Given the description of an element on the screen output the (x, y) to click on. 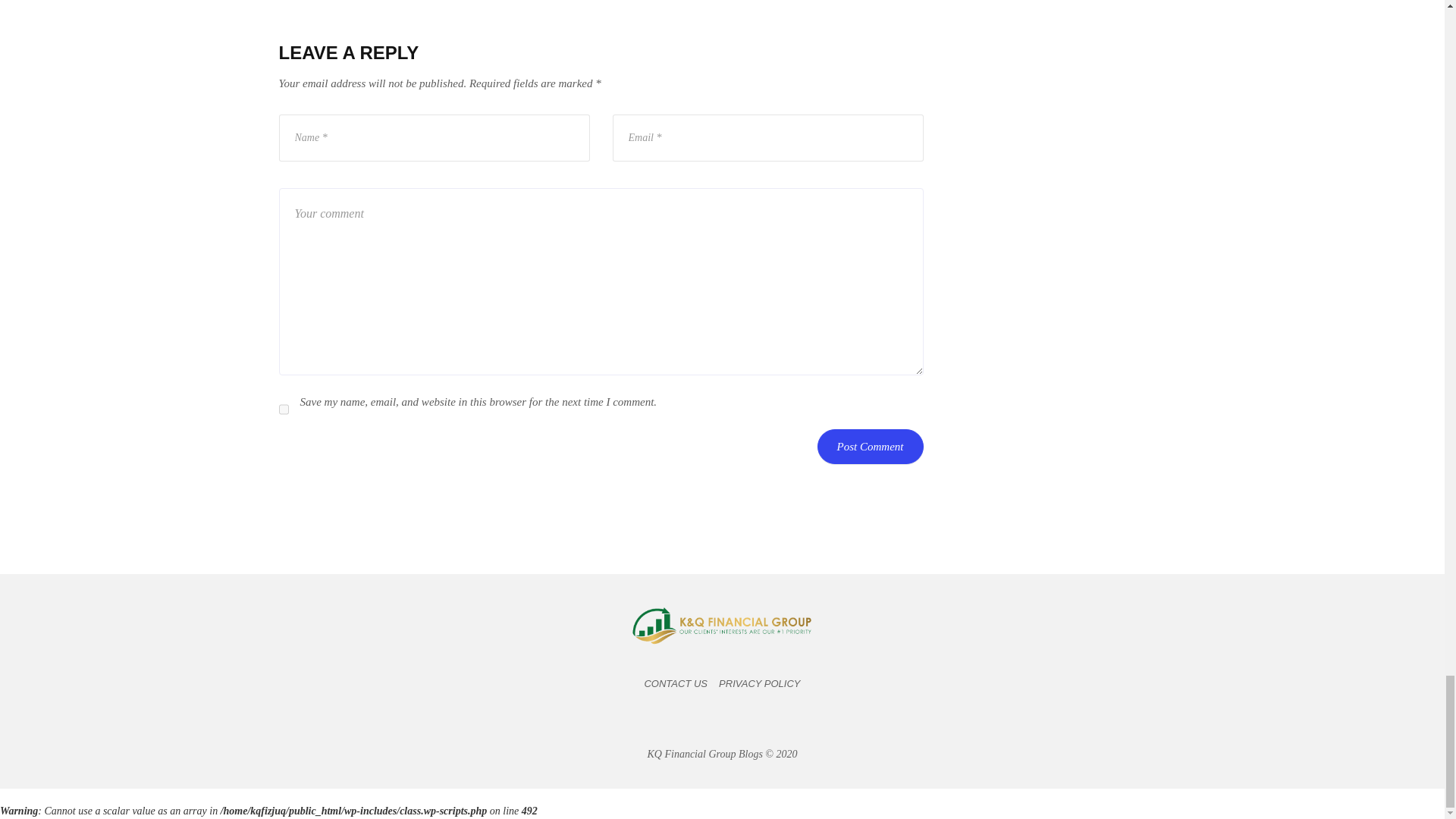
yes (283, 409)
Post Comment (869, 446)
